Given the description of an element on the screen output the (x, y) to click on. 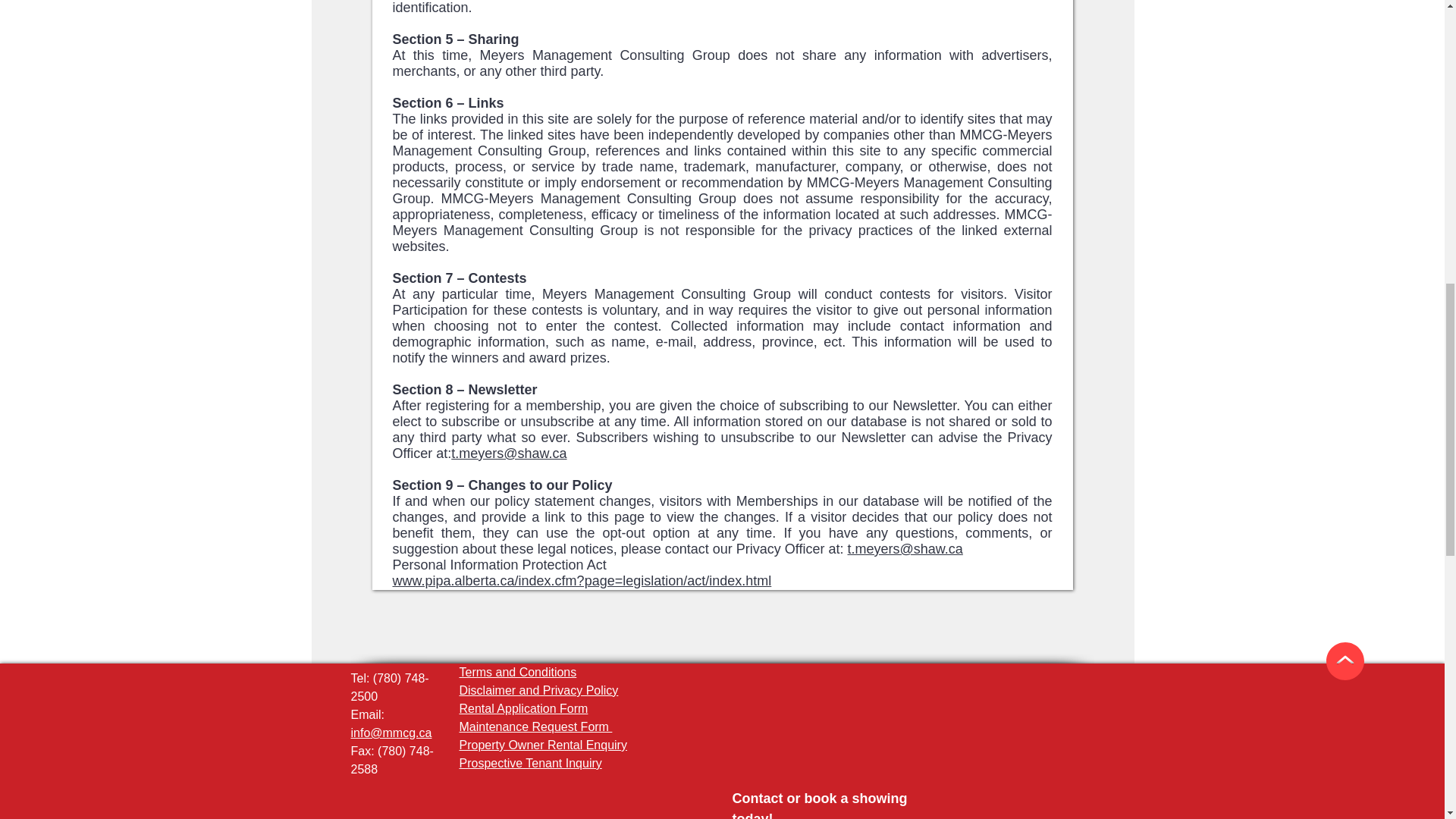
Rental Application Form (524, 707)
Maintenance Request Form  (536, 726)
Property Owner Rental Enquiry (543, 744)
Terms and Conditions (518, 671)
Disclaimer and Privacy Policy (539, 689)
Prospective Tenant Inquiry (531, 762)
